Given the description of an element on the screen output the (x, y) to click on. 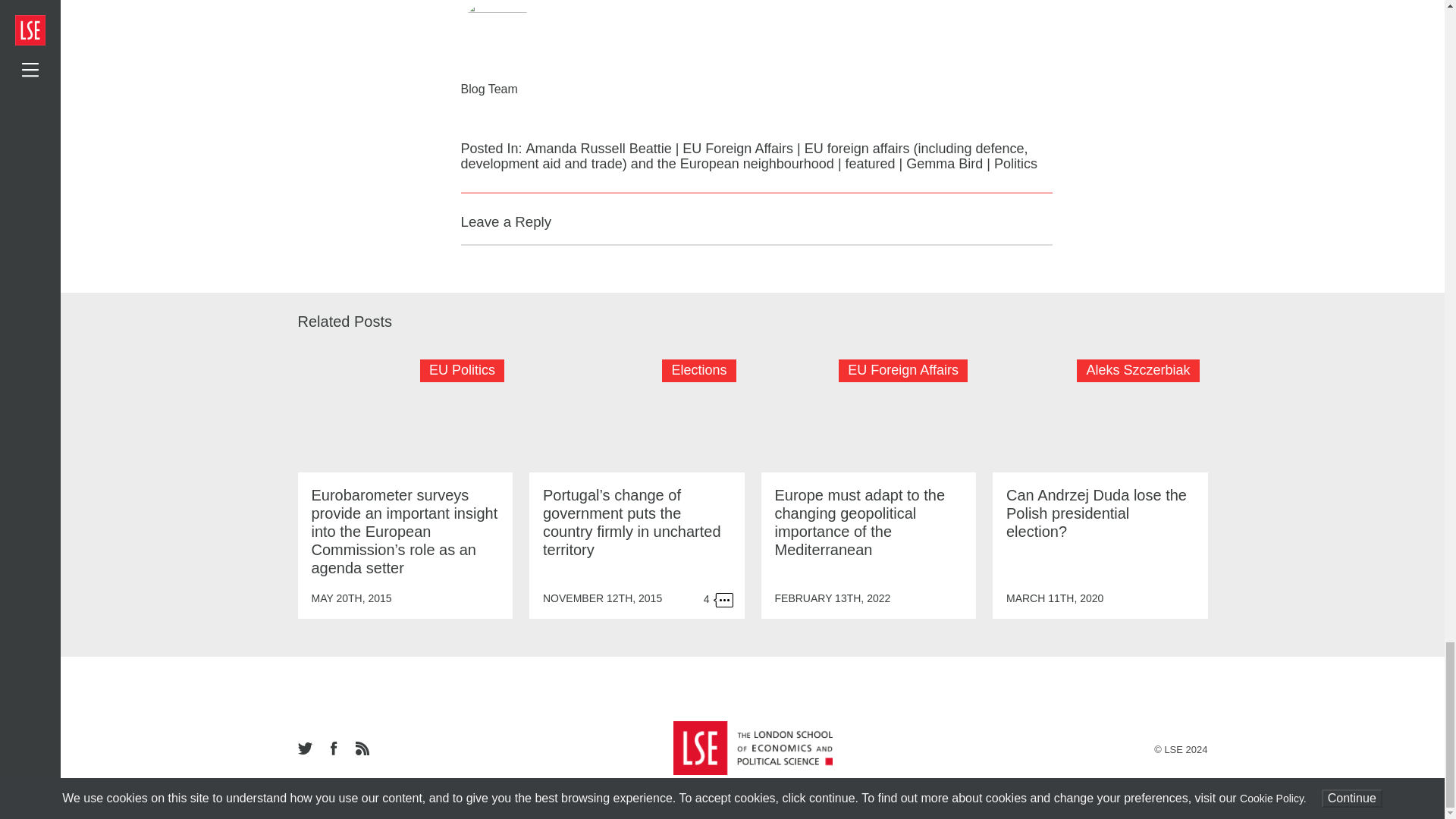
rss (361, 749)
